Given the description of an element on the screen output the (x, y) to click on. 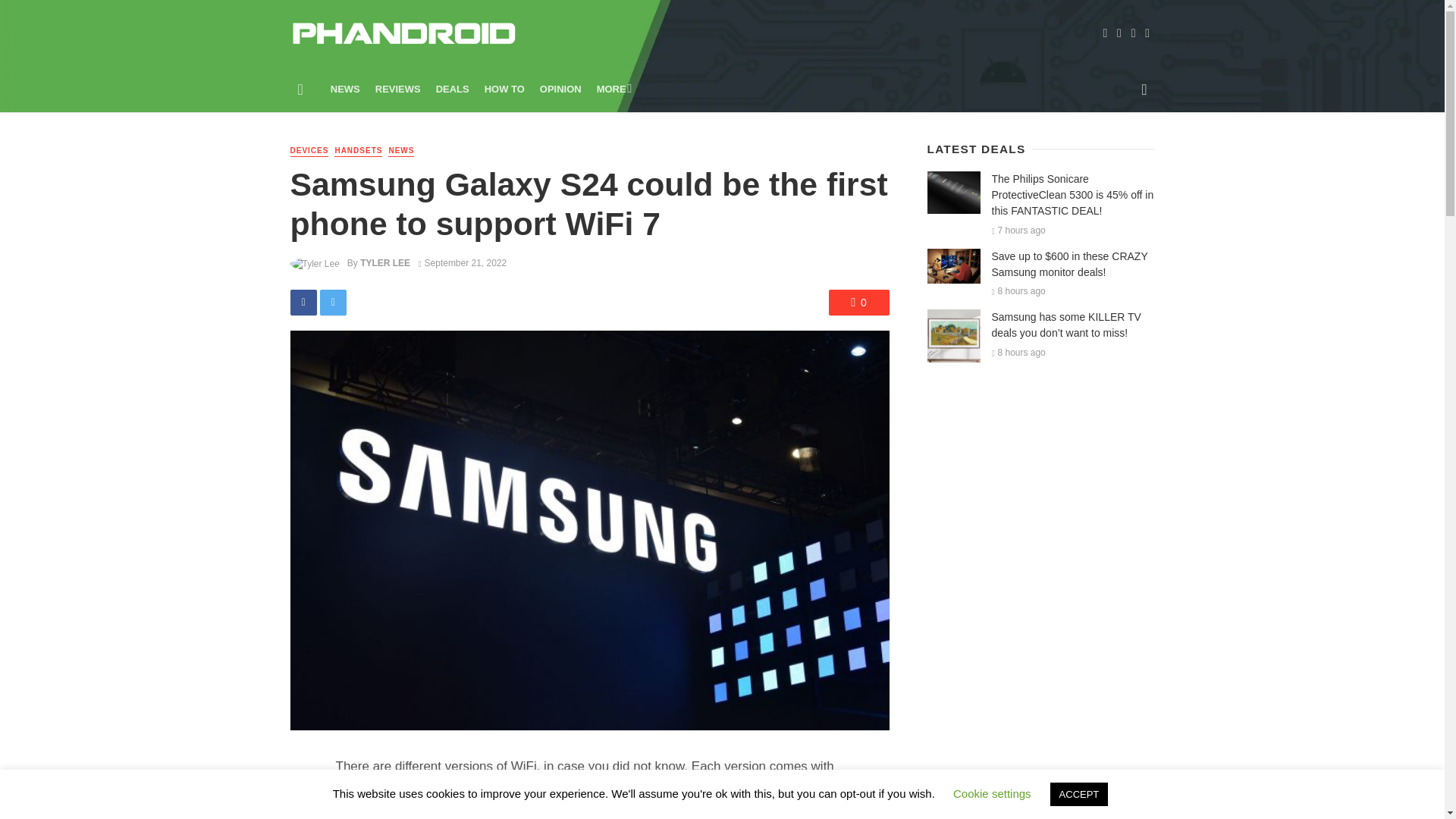
MORE (612, 89)
REVIEWS (398, 89)
TYLER LEE (384, 262)
Posts by Tyler Lee (384, 262)
September 21, 2022 at 6:21 am (462, 262)
OPINION (560, 89)
DEVICES (309, 151)
HOW TO (504, 89)
NEWS (345, 89)
DEALS (452, 89)
HANDSETS (357, 151)
NEWS (400, 151)
0 (858, 302)
